Given the description of an element on the screen output the (x, y) to click on. 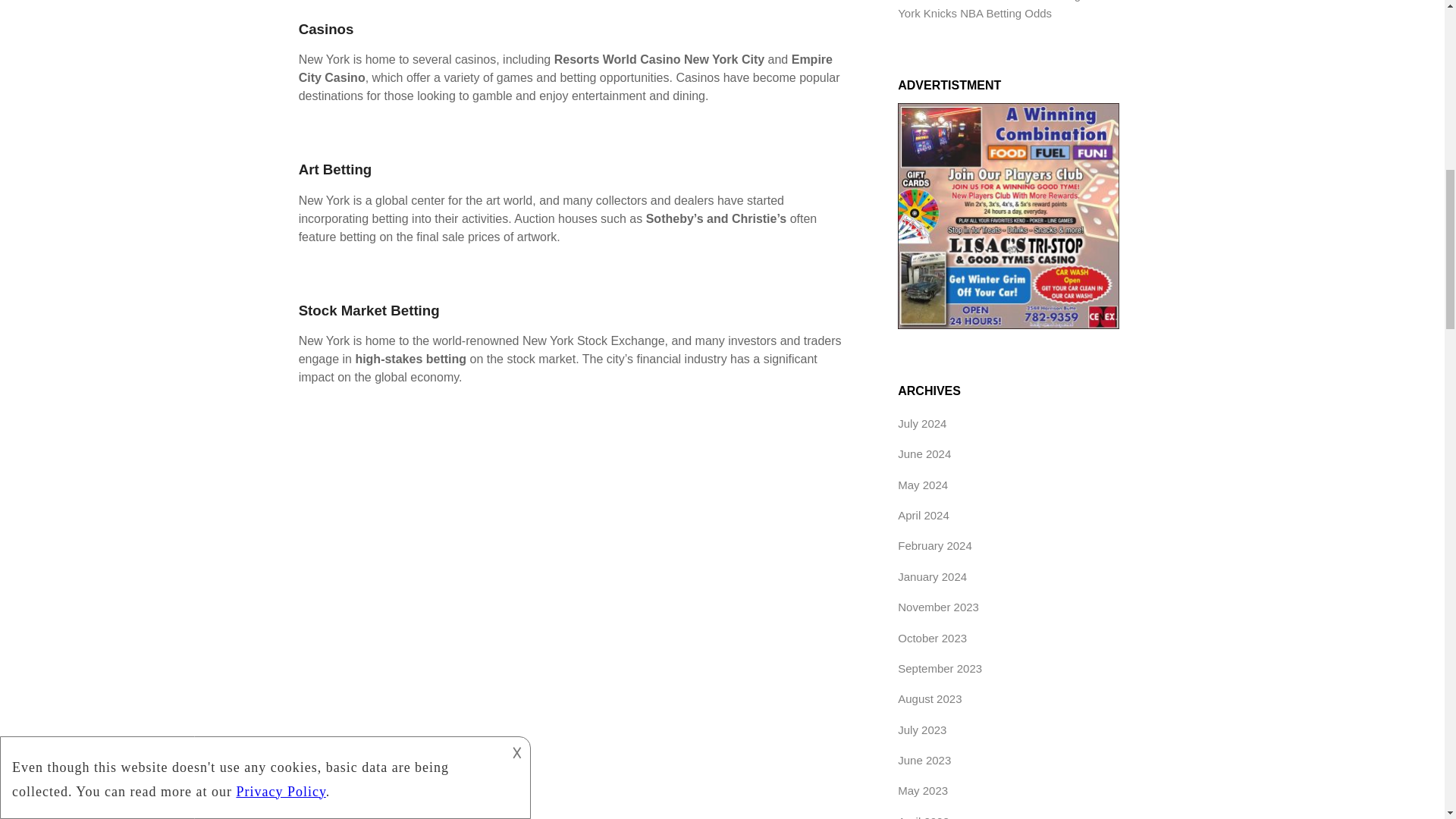
July 2024 (922, 422)
June 2024 (924, 453)
September 2023 (939, 667)
July 2023 (922, 729)
January 2024 (932, 576)
August 2023 (929, 698)
October 2023 (932, 637)
June 2023 (924, 759)
May 2024 (922, 484)
February 2024 (935, 545)
November 2023 (938, 606)
May 2023 (922, 789)
April 2024 (923, 514)
